Given the description of an element on the screen output the (x, y) to click on. 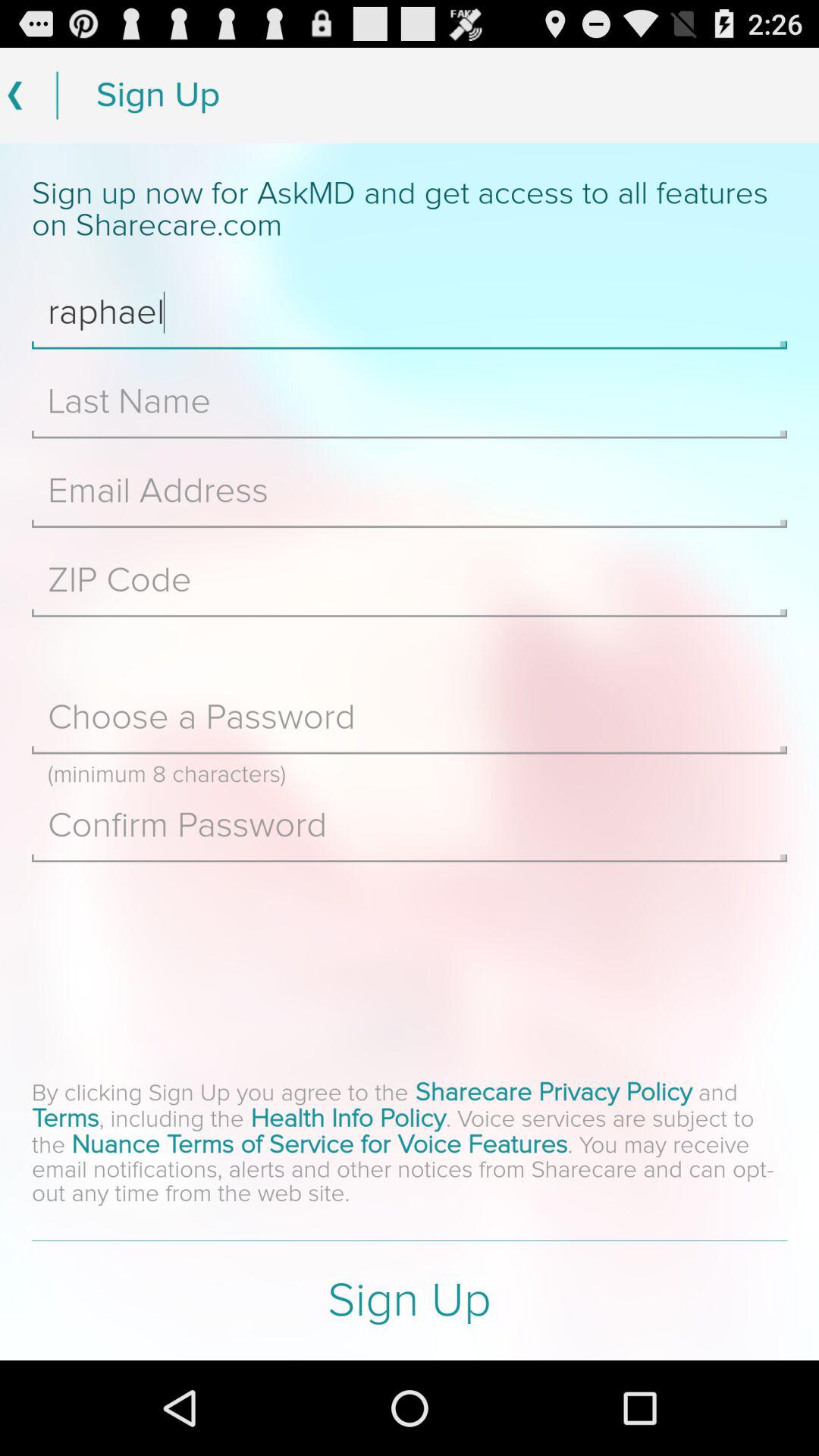
enter email address (409, 490)
